Given the description of an element on the screen output the (x, y) to click on. 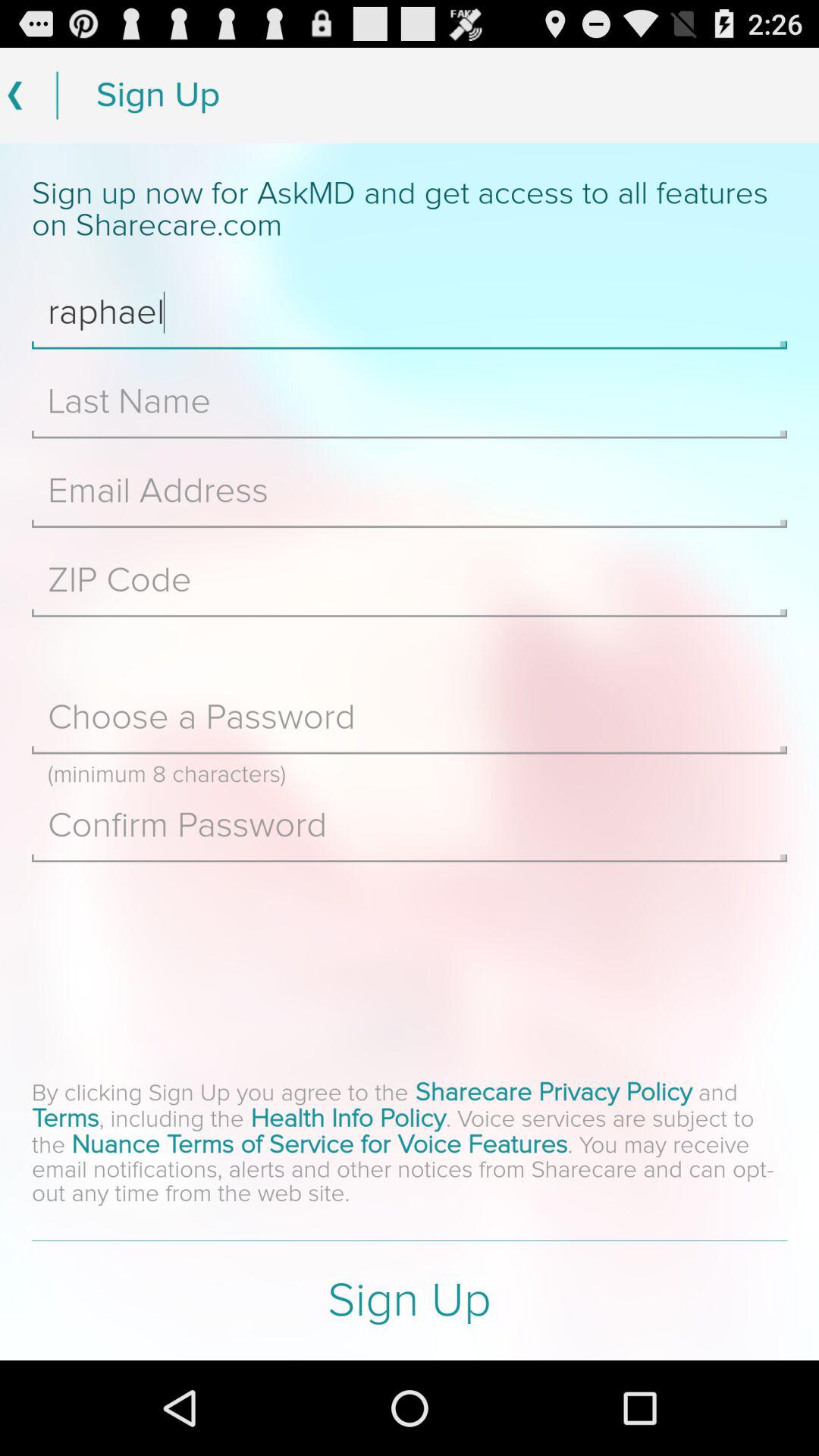
enter email address (409, 490)
